Given the description of an element on the screen output the (x, y) to click on. 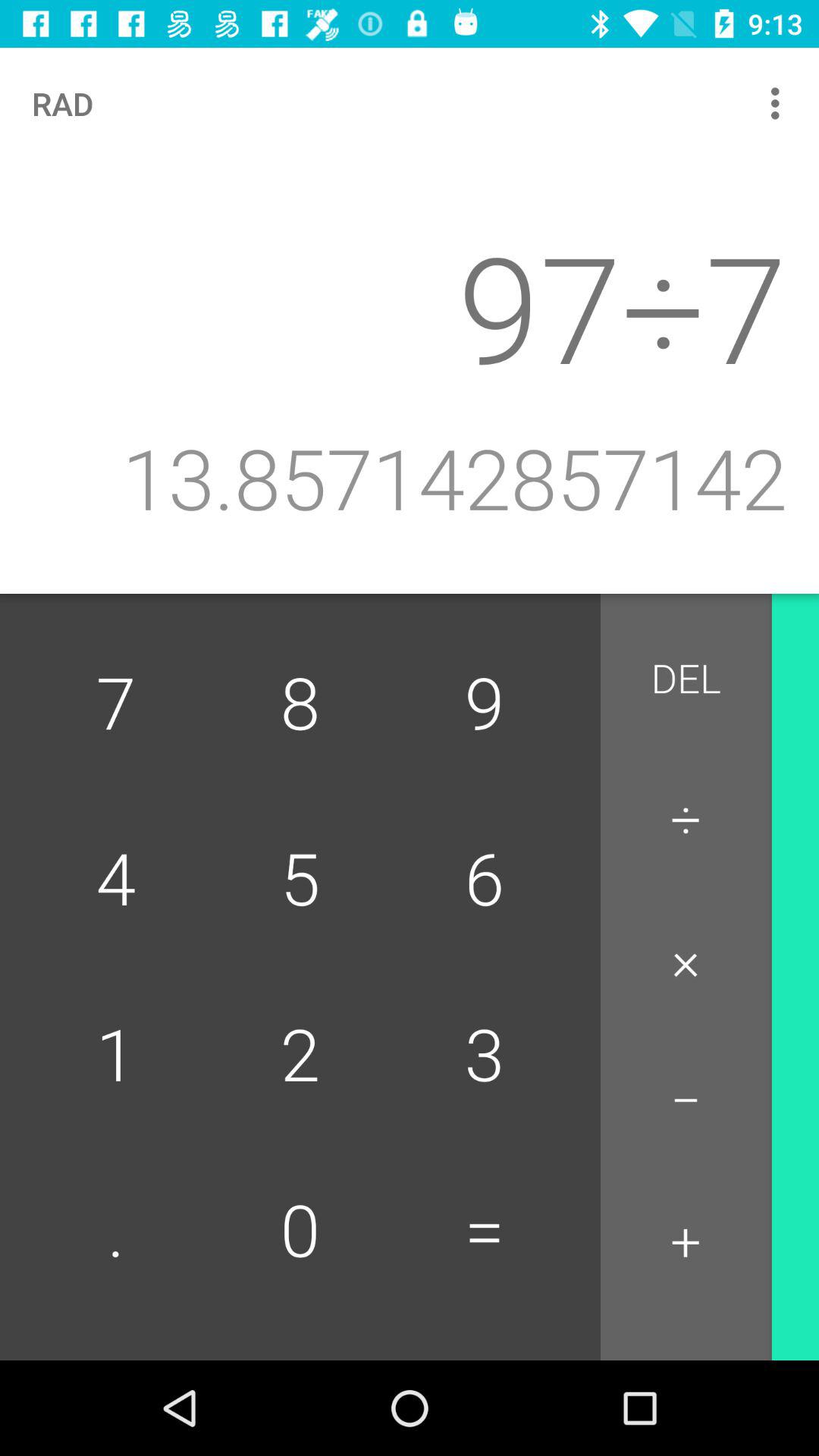
jump until + icon (685, 1242)
